Given the description of an element on the screen output the (x, y) to click on. 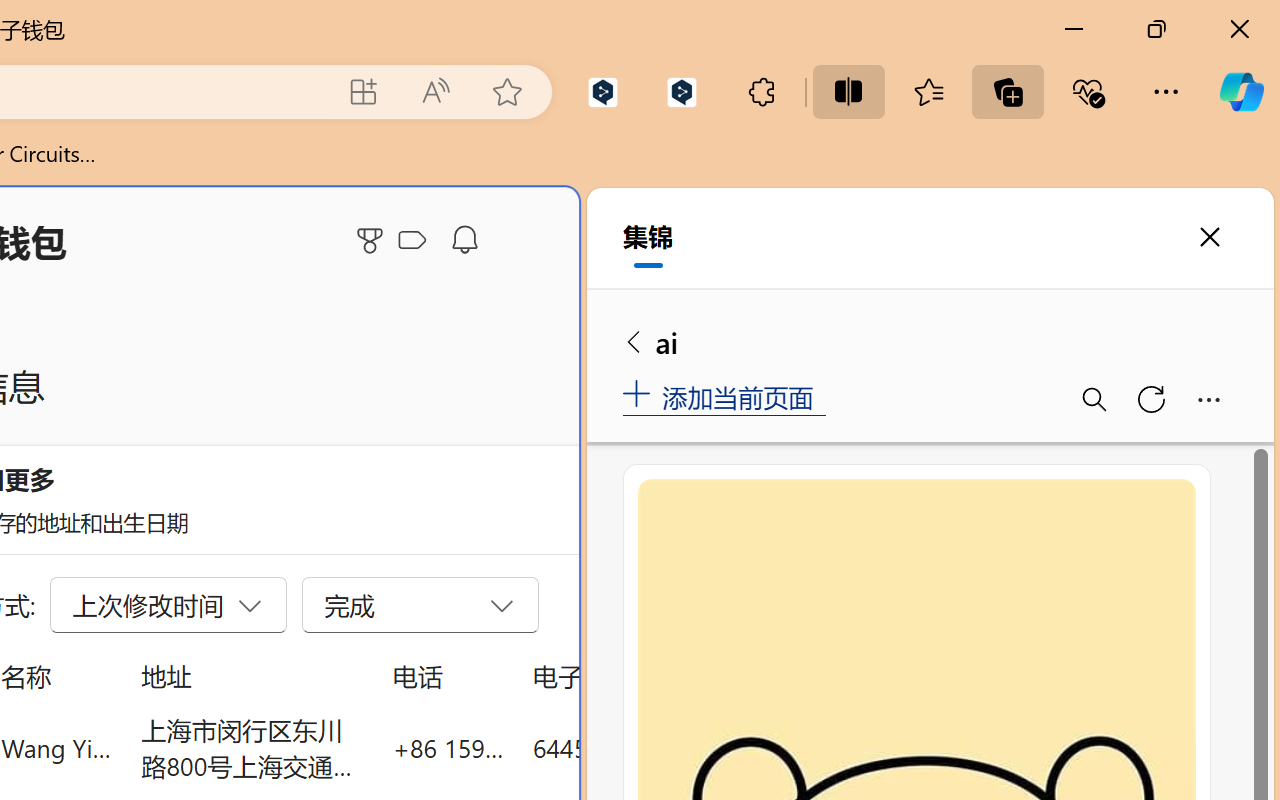
Microsoft Rewards (373, 240)
Class: ___1lmltc5 f1agt3bx f12qytpq (411, 241)
